Given the description of an element on the screen output the (x, y) to click on. 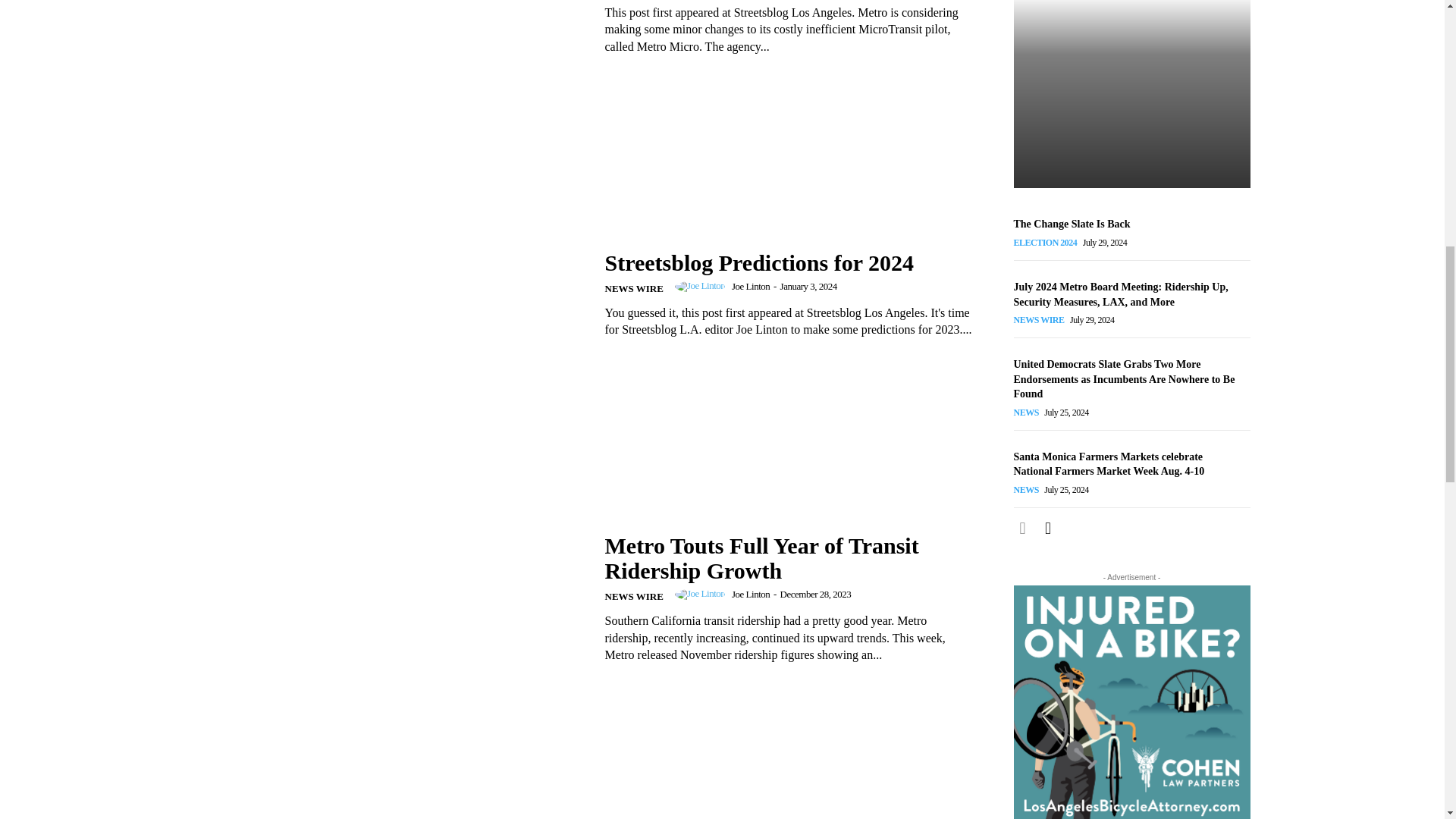
Metro Seeking Input on its MicroTransit Pilot Fares (389, 63)
Streetsblog Predictions for 2024 (389, 294)
Streetsblog Predictions for 2024 (759, 262)
